Given the description of an element on the screen output the (x, y) to click on. 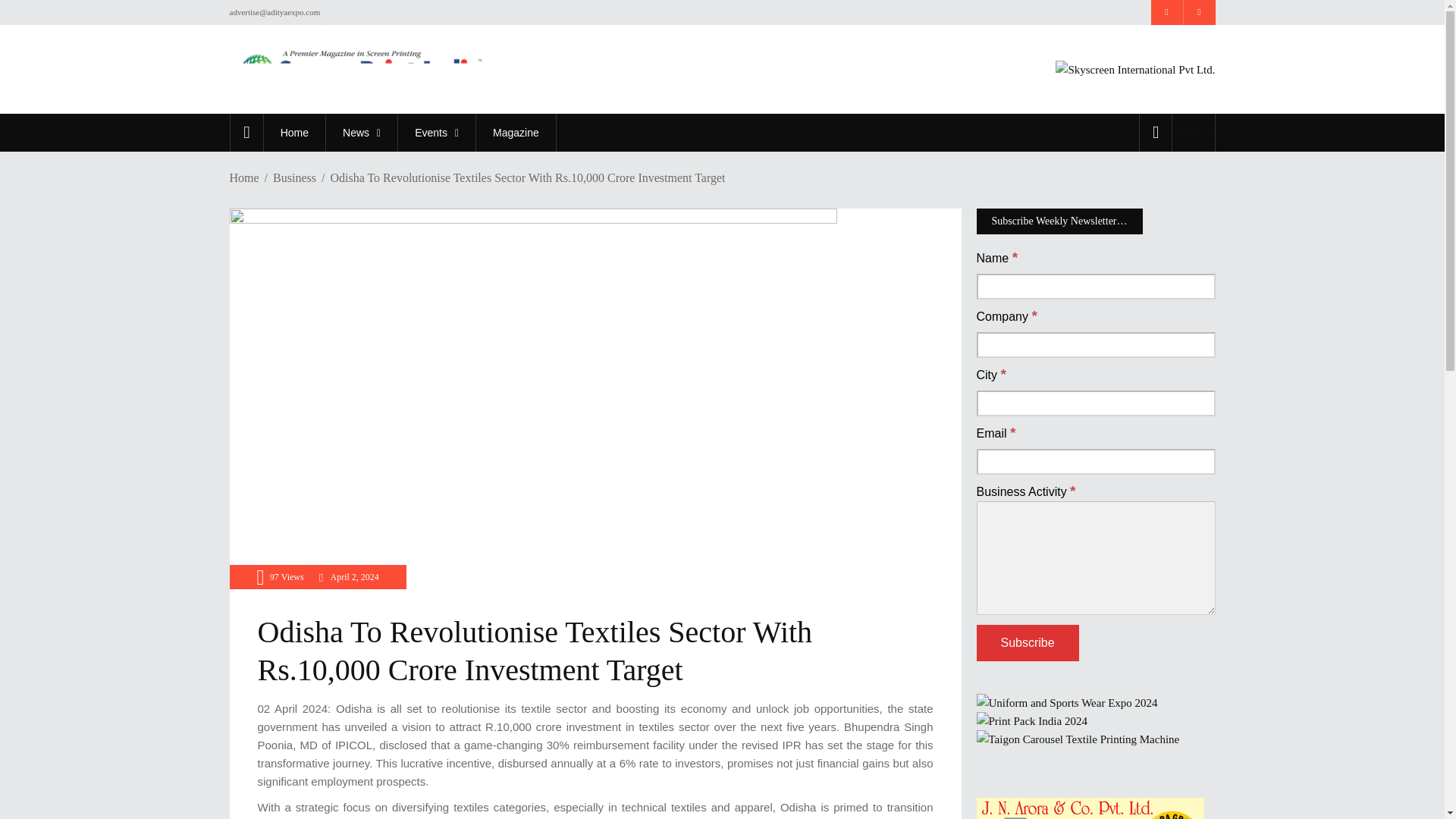
Home (293, 132)
Subscribe (1027, 642)
News (360, 132)
Events (436, 132)
Magazine (516, 132)
Subscribe (1193, 129)
